Given the description of an element on the screen output the (x, y) to click on. 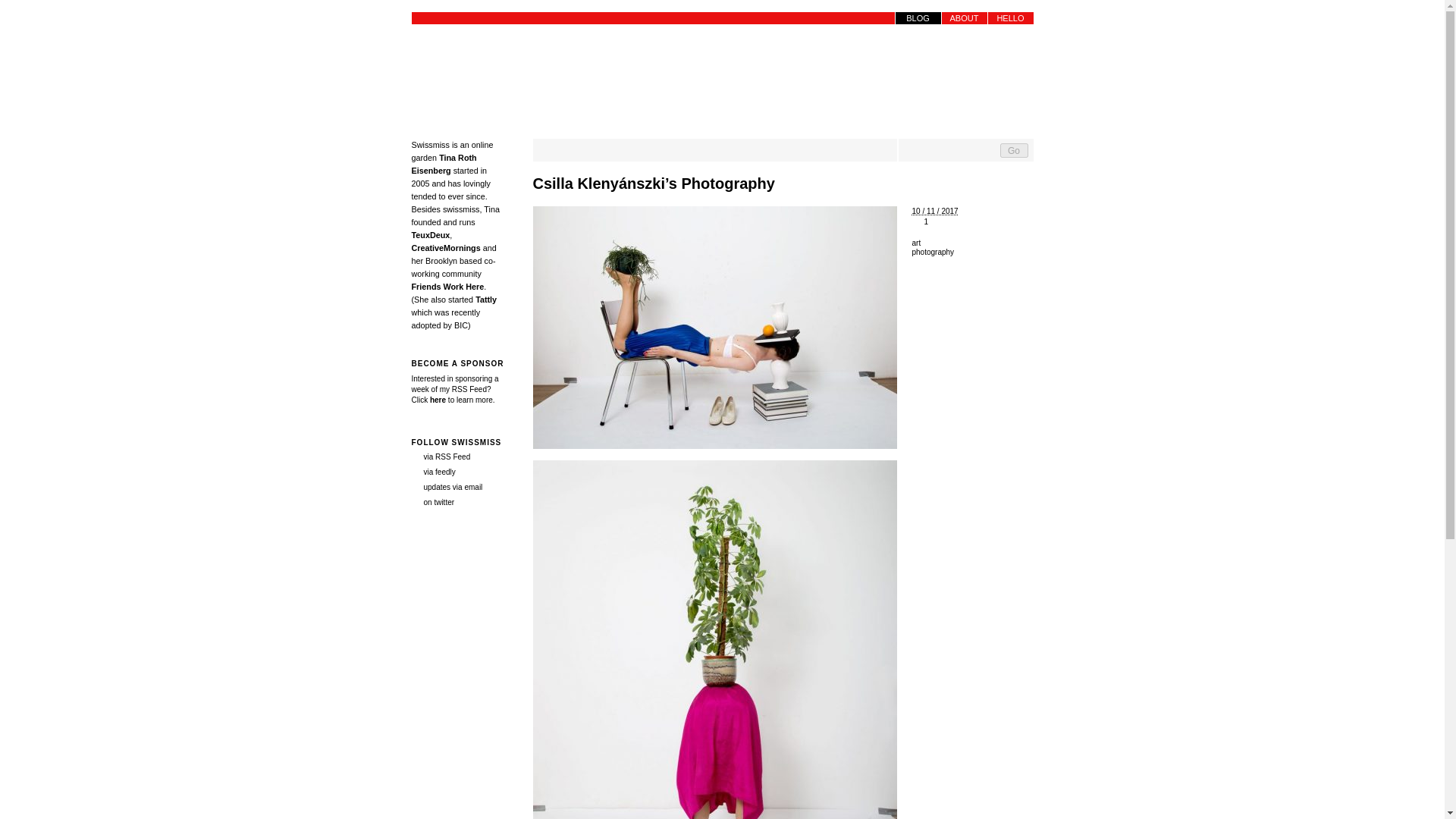
Tattly (486, 298)
BLOG (917, 18)
via feedly (432, 471)
ABOUT (964, 18)
Go (1012, 150)
updates via email (445, 487)
via RSS Feed (440, 456)
HELLO (1009, 18)
swissmiss (456, 69)
Friends Work Here (446, 286)
